Given the description of an element on the screen output the (x, y) to click on. 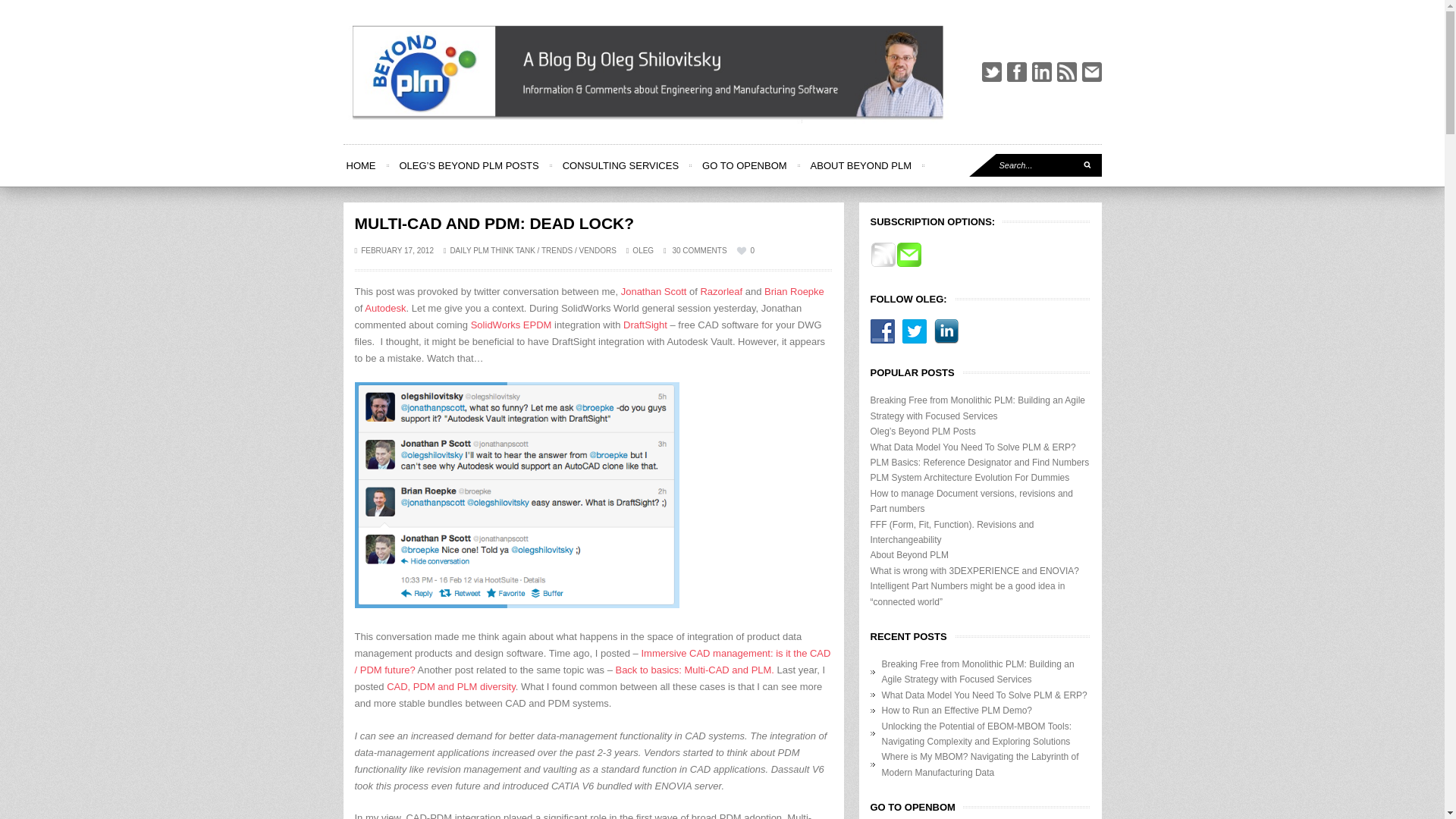
OLEG (642, 250)
Like this (745, 250)
Autodesk (385, 307)
Posts by Oleg (642, 250)
Search... (1035, 164)
Jonathan Scott (654, 291)
Back to basics: Multi-CAD and PLM. (694, 669)
Razorleaf (721, 291)
CAD, PDM and PLM diversity (451, 686)
twitter (991, 71)
